Given the description of an element on the screen output the (x, y) to click on. 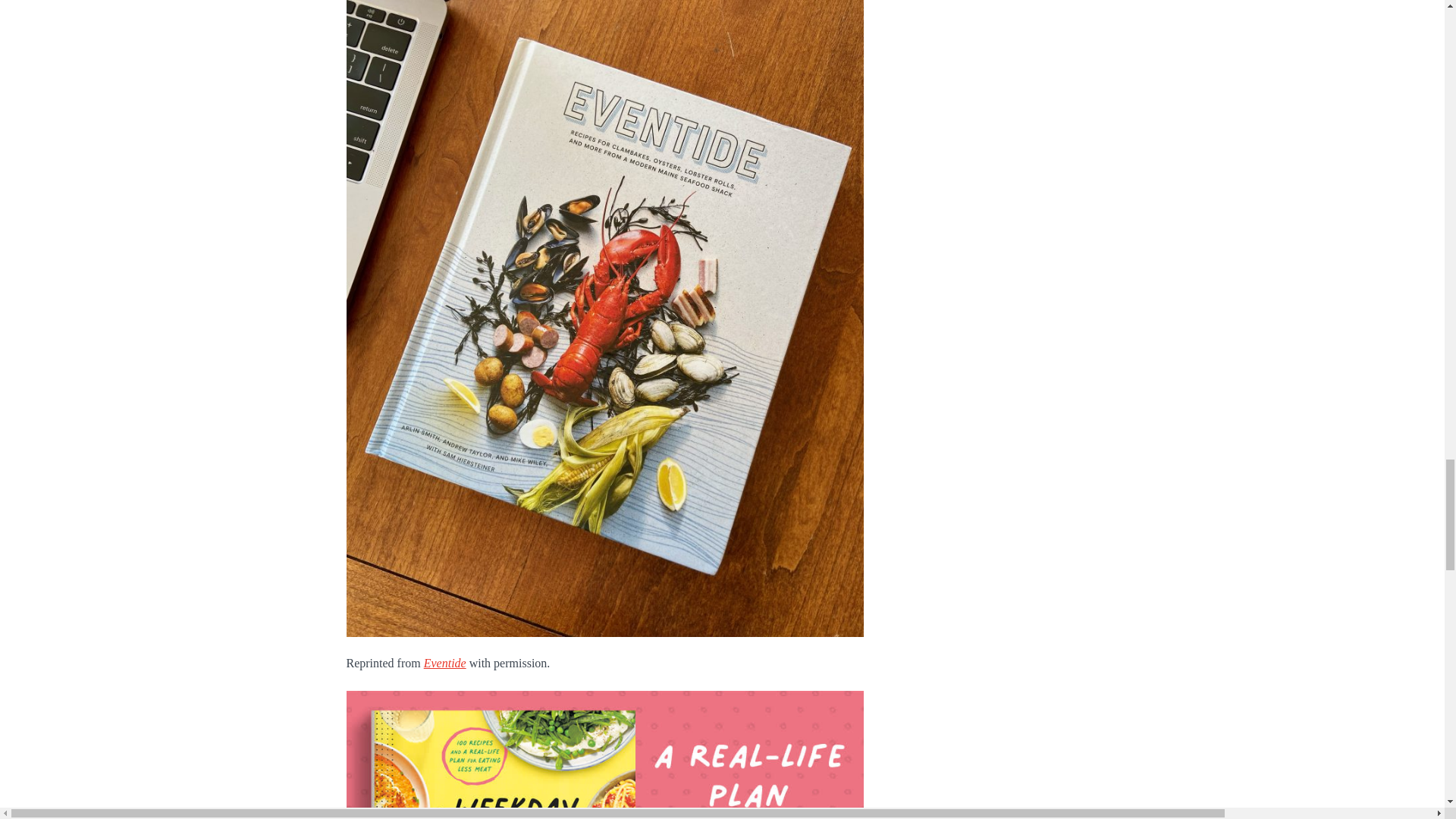
Eventide (444, 662)
